Given the description of an element on the screen output the (x, y) to click on. 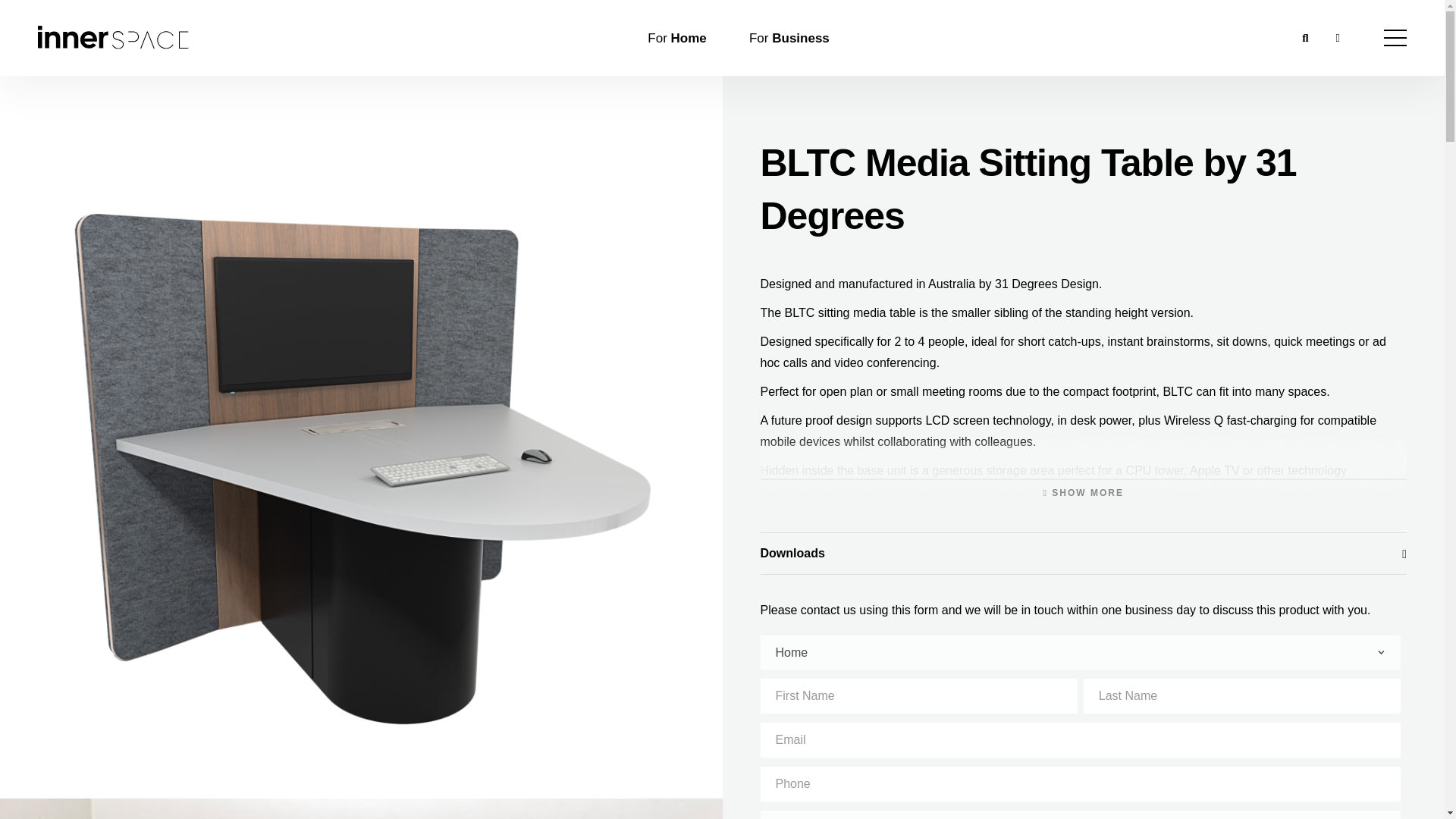
Search (1305, 37)
Start shopping (1338, 37)
